Given the description of an element on the screen output the (x, y) to click on. 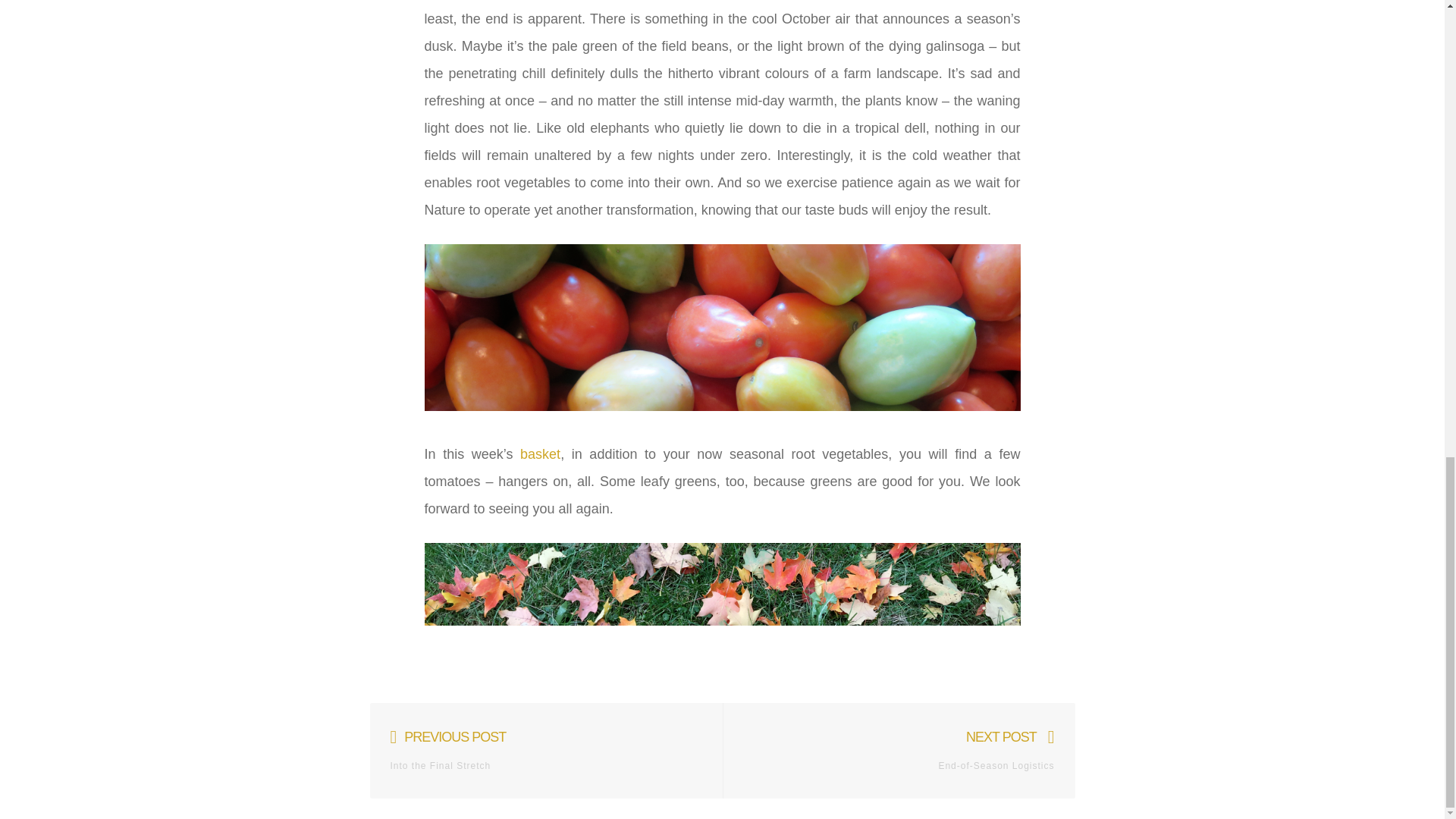
basket (909, 750)
